Given the description of an element on the screen output the (x, y) to click on. 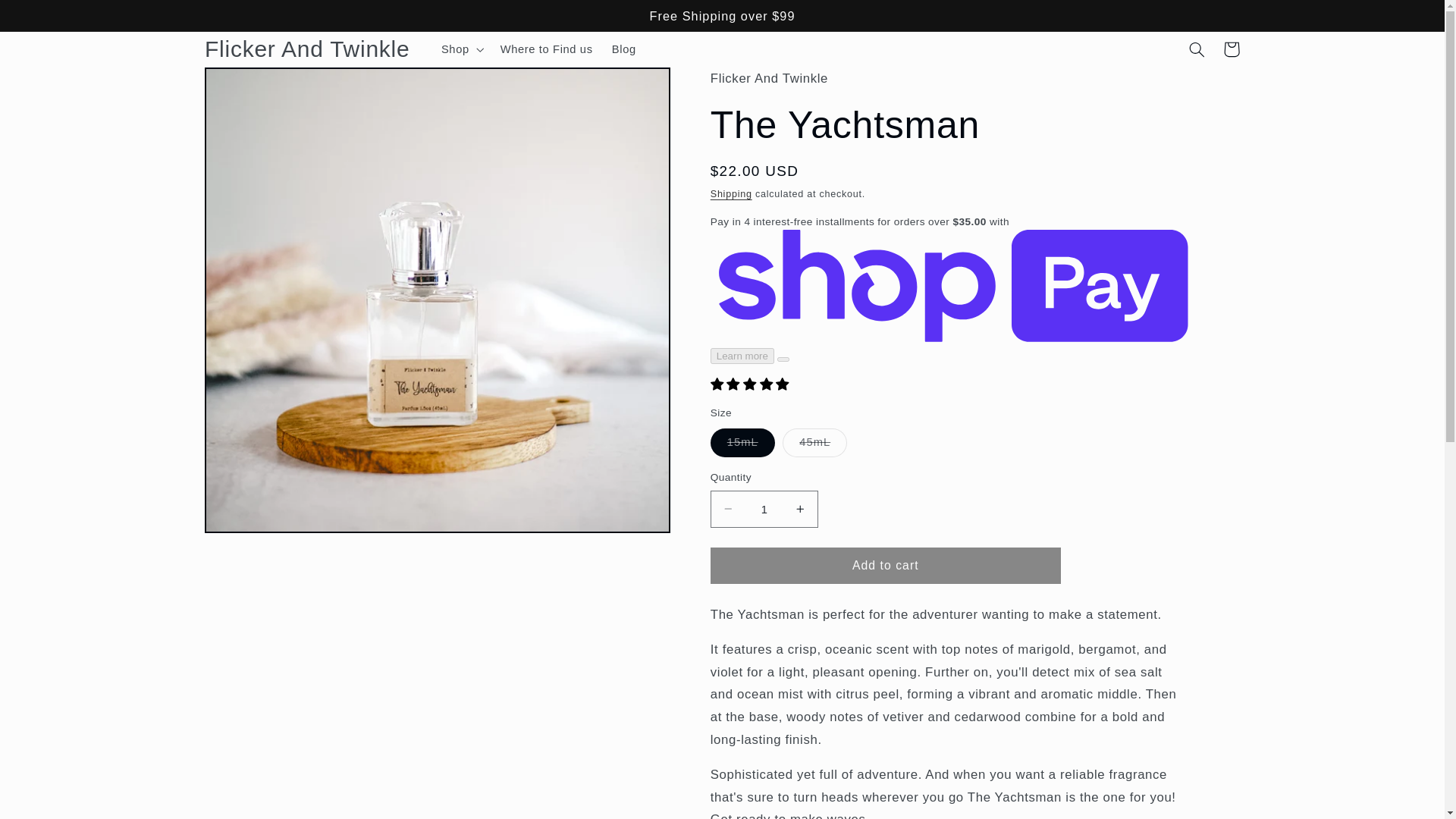
Flicker And Twinkle (306, 49)
Skip to product information (251, 84)
Where to Find us (546, 49)
Cart (1231, 48)
Blog (623, 49)
1 (764, 508)
Skip to content (47, 17)
